Given the description of an element on the screen output the (x, y) to click on. 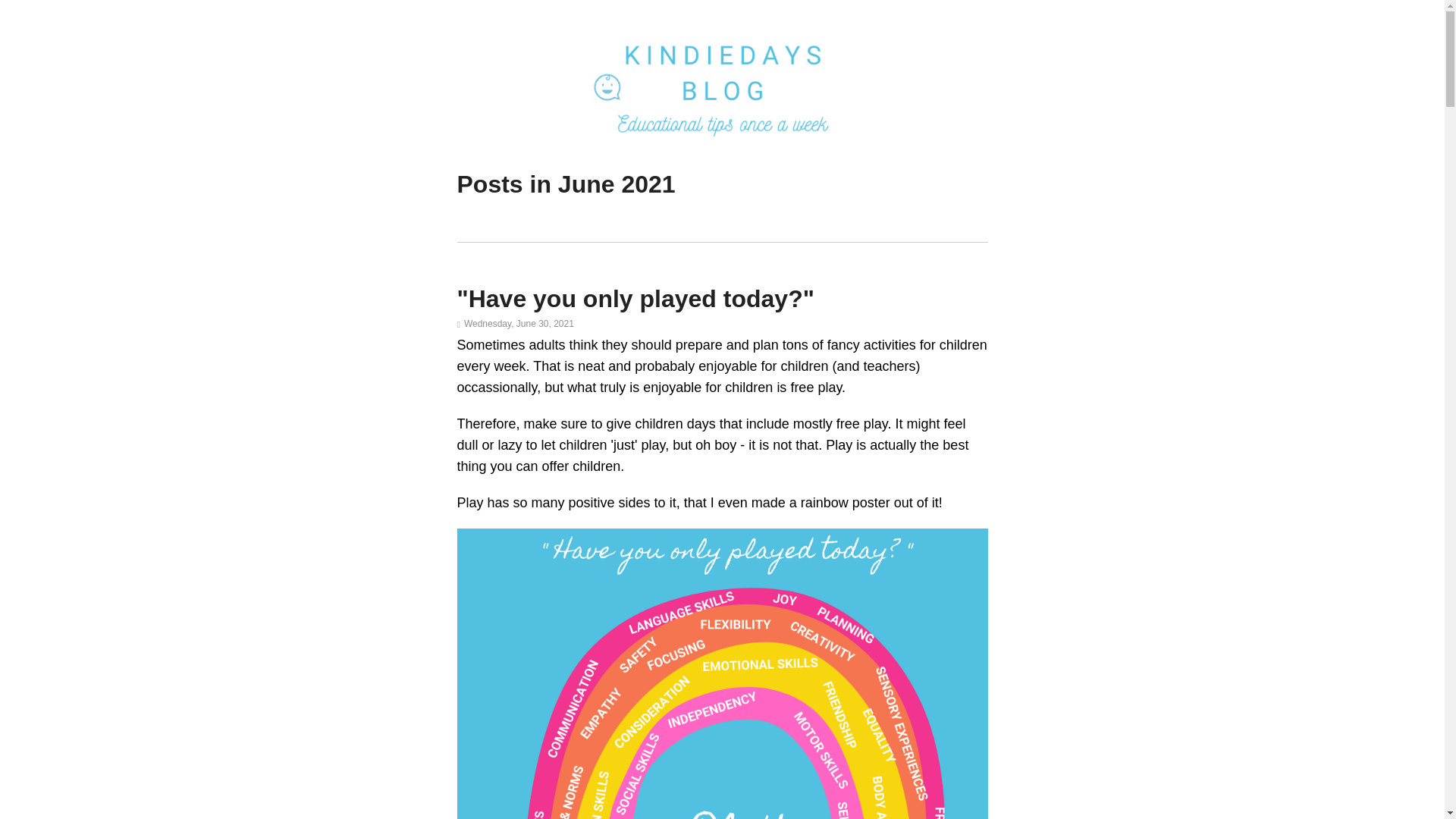
"Have you only played today?" (635, 298)
